Given the description of an element on the screen output the (x, y) to click on. 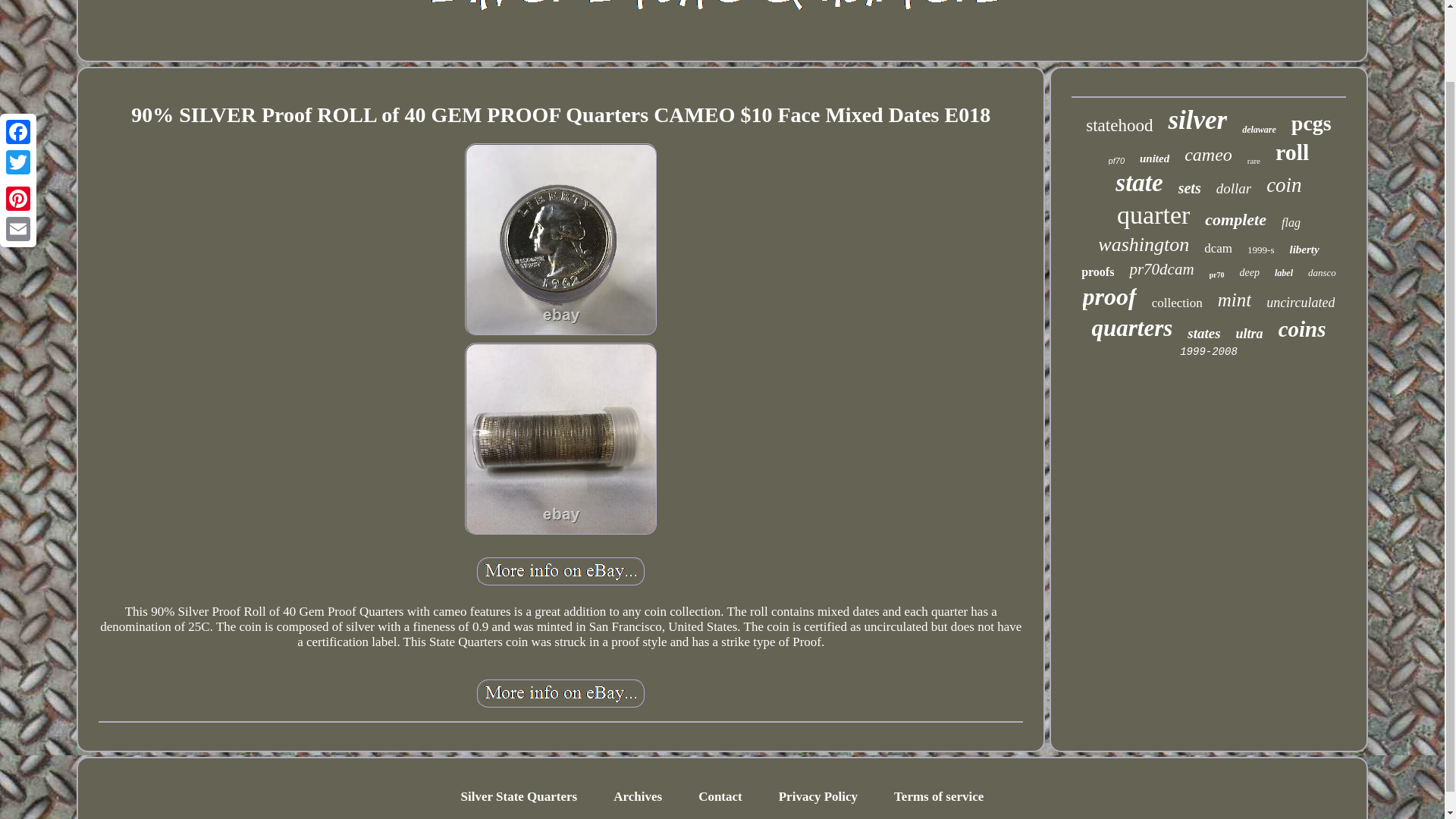
label (1283, 273)
flag (1290, 223)
statehood (1119, 125)
cameo (1208, 154)
coin (1283, 185)
proof (1110, 296)
silver (1197, 120)
complete (1235, 219)
pcgs (1311, 123)
Email (17, 146)
Pinterest (17, 116)
Facebook (17, 50)
dollar (1232, 188)
pf70 (1116, 160)
pr70dcam (1161, 269)
